Given the description of an element on the screen output the (x, y) to click on. 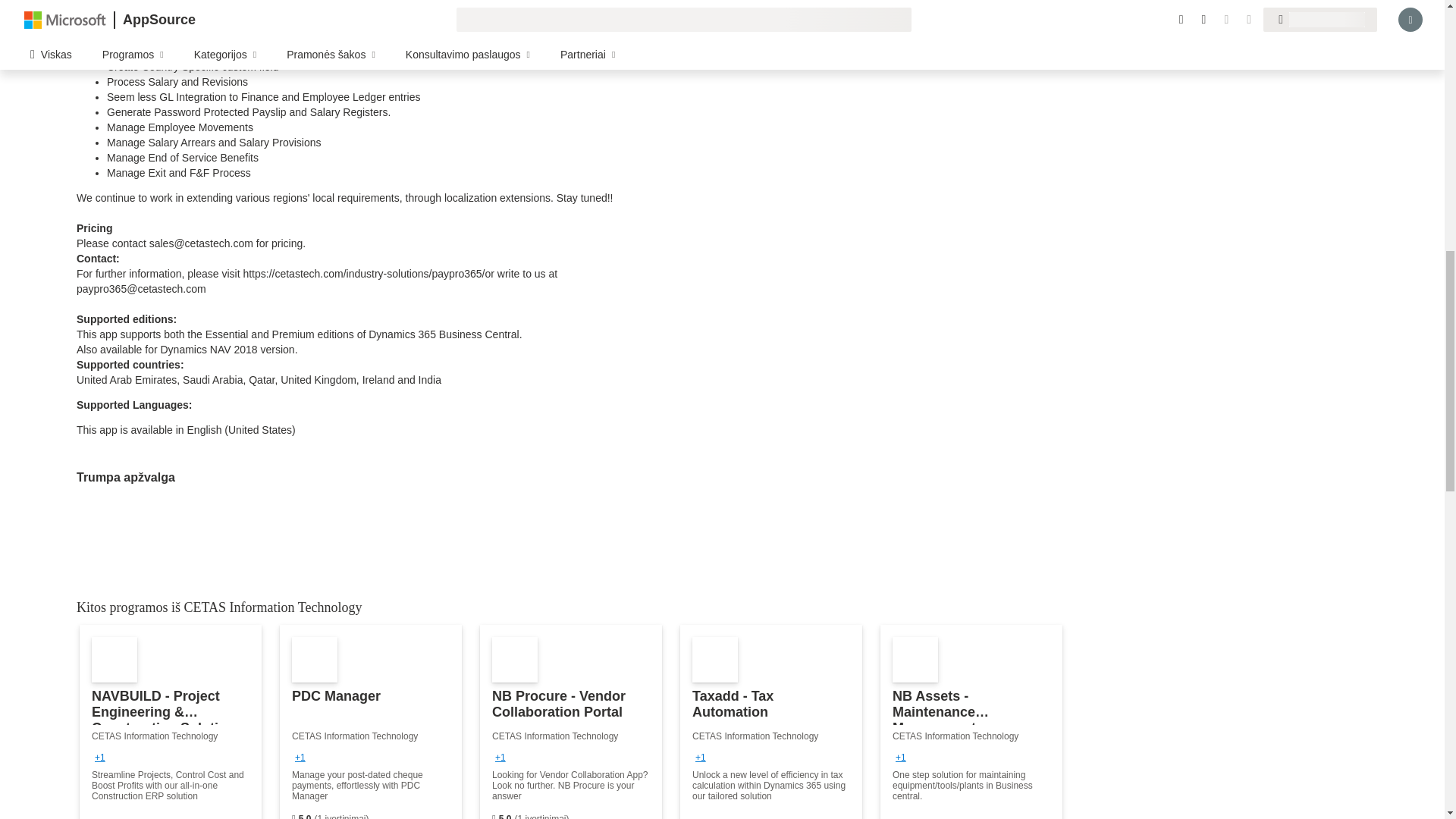
PDC Manager (370, 721)
Taxadd - Tax Automation (770, 721)
NB Assets - Maintenance Management (971, 721)
NB Procure - Vendor Collaboration Portal (571, 721)
